Given the description of an element on the screen output the (x, y) to click on. 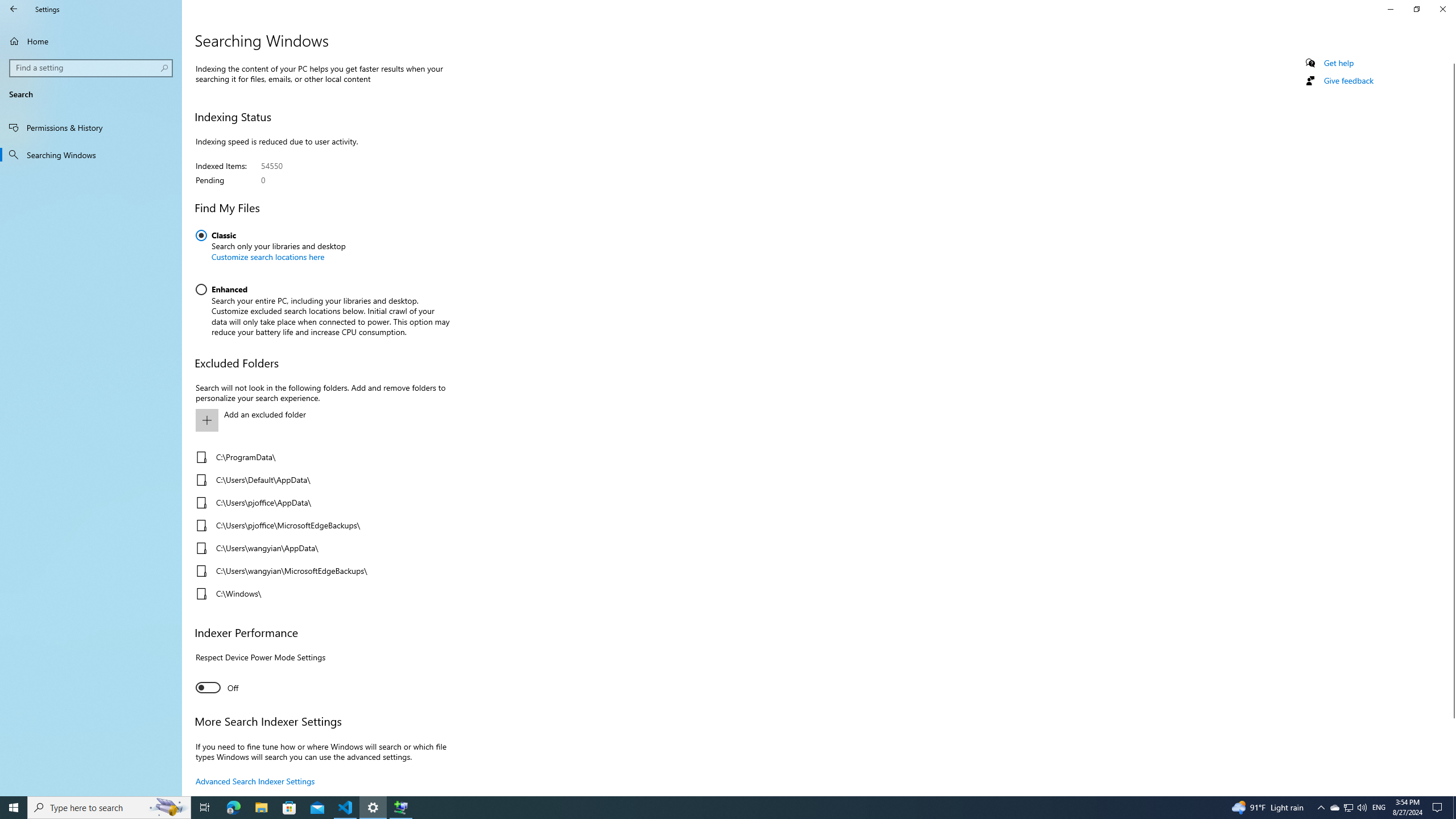
Home (91, 40)
Type here to search (108, 807)
Minimize Settings (1390, 9)
C:\Users\pjoffice\MicrosoftEdgeBackups\ (319, 525)
Search highlights icon opens search home window (167, 807)
Back (13, 9)
Action Center, No new notifications (1439, 807)
Classic. Search only your libraries and desktop (270, 249)
Permissions & History (1333, 807)
Tray Input Indicator - English (United States) (91, 126)
Get help (1378, 807)
Settings - 1 running window (1347, 807)
Start (1338, 62)
